Given the description of an element on the screen output the (x, y) to click on. 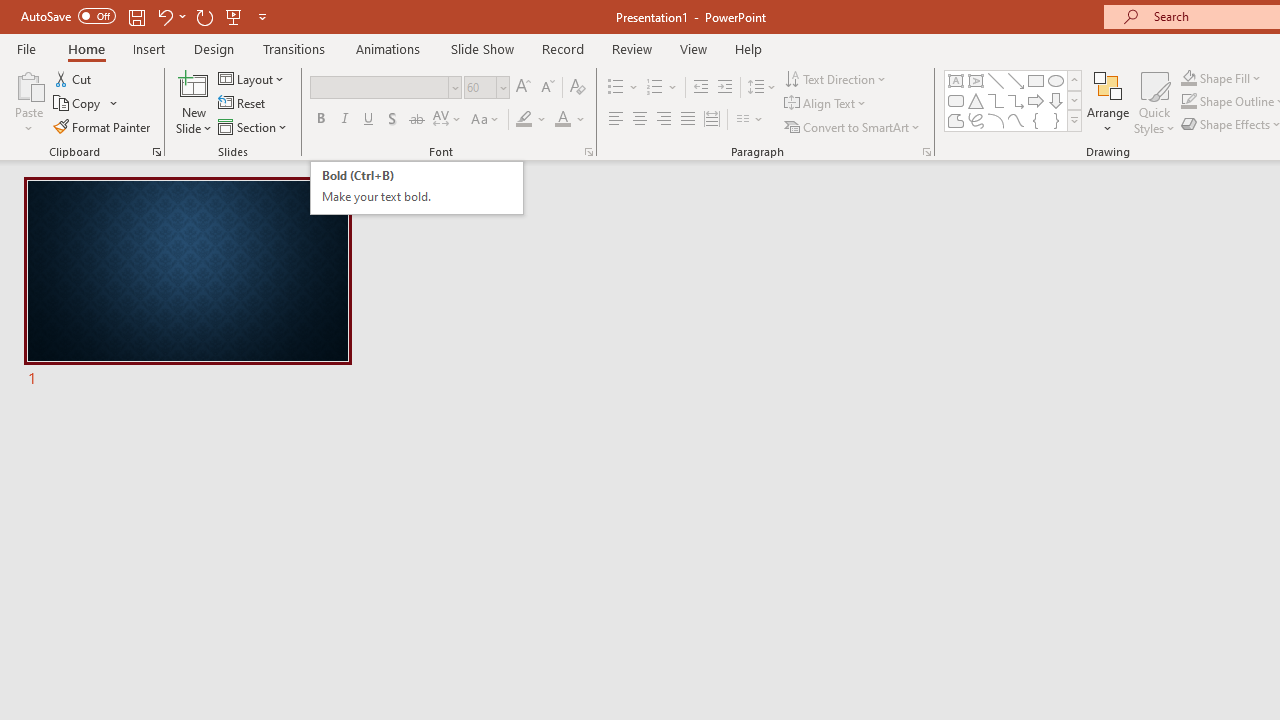
Shape Fill Orange, Accent 2 (1188, 78)
